Given the description of an element on the screen output the (x, y) to click on. 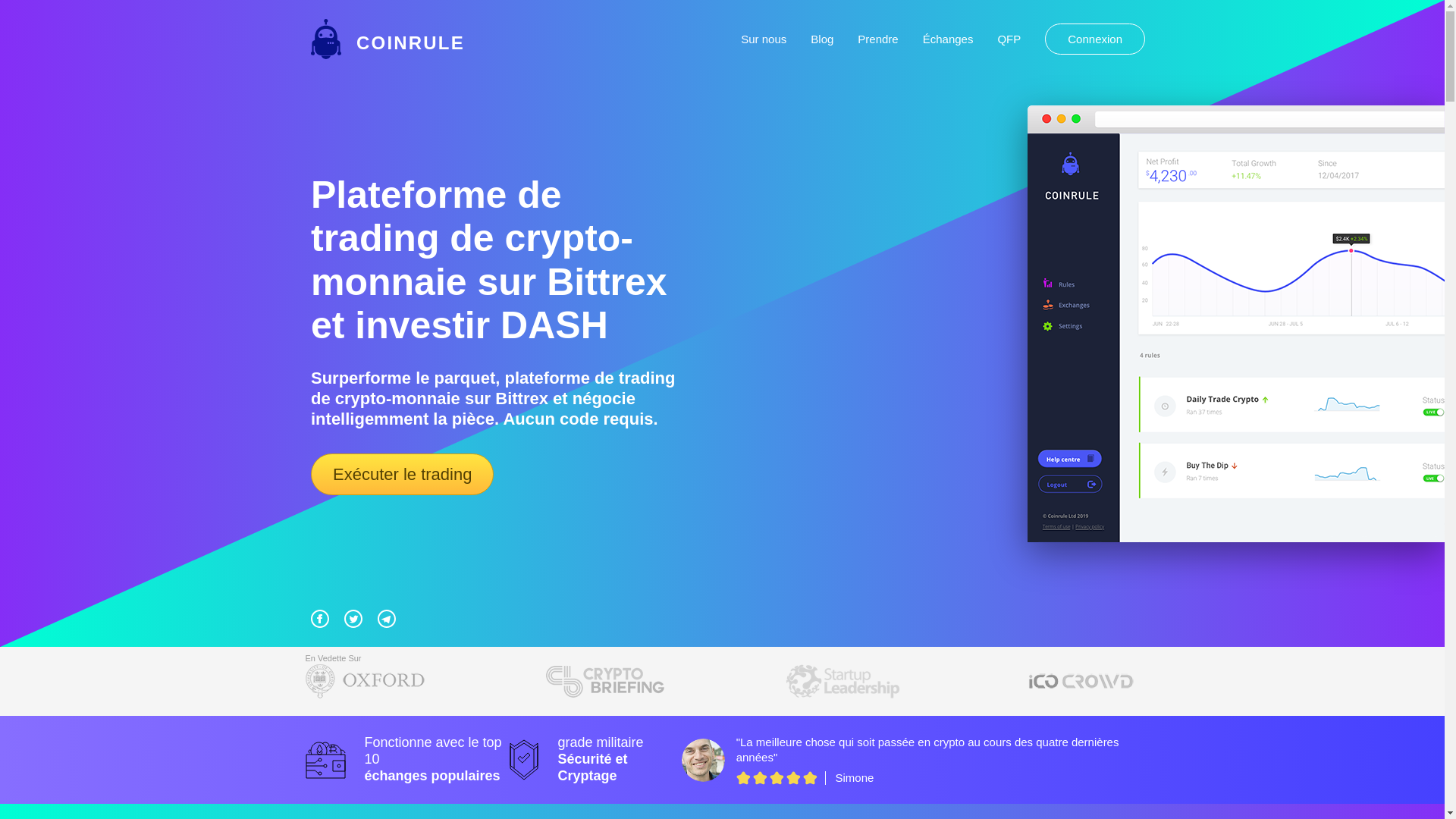
Connexion Element type: text (1094, 38)
Blog Element type: text (821, 38)
Sur nous Element type: text (763, 38)
Prendre Element type: text (877, 38)
QFP Element type: text (1008, 38)
